Given the description of an element on the screen output the (x, y) to click on. 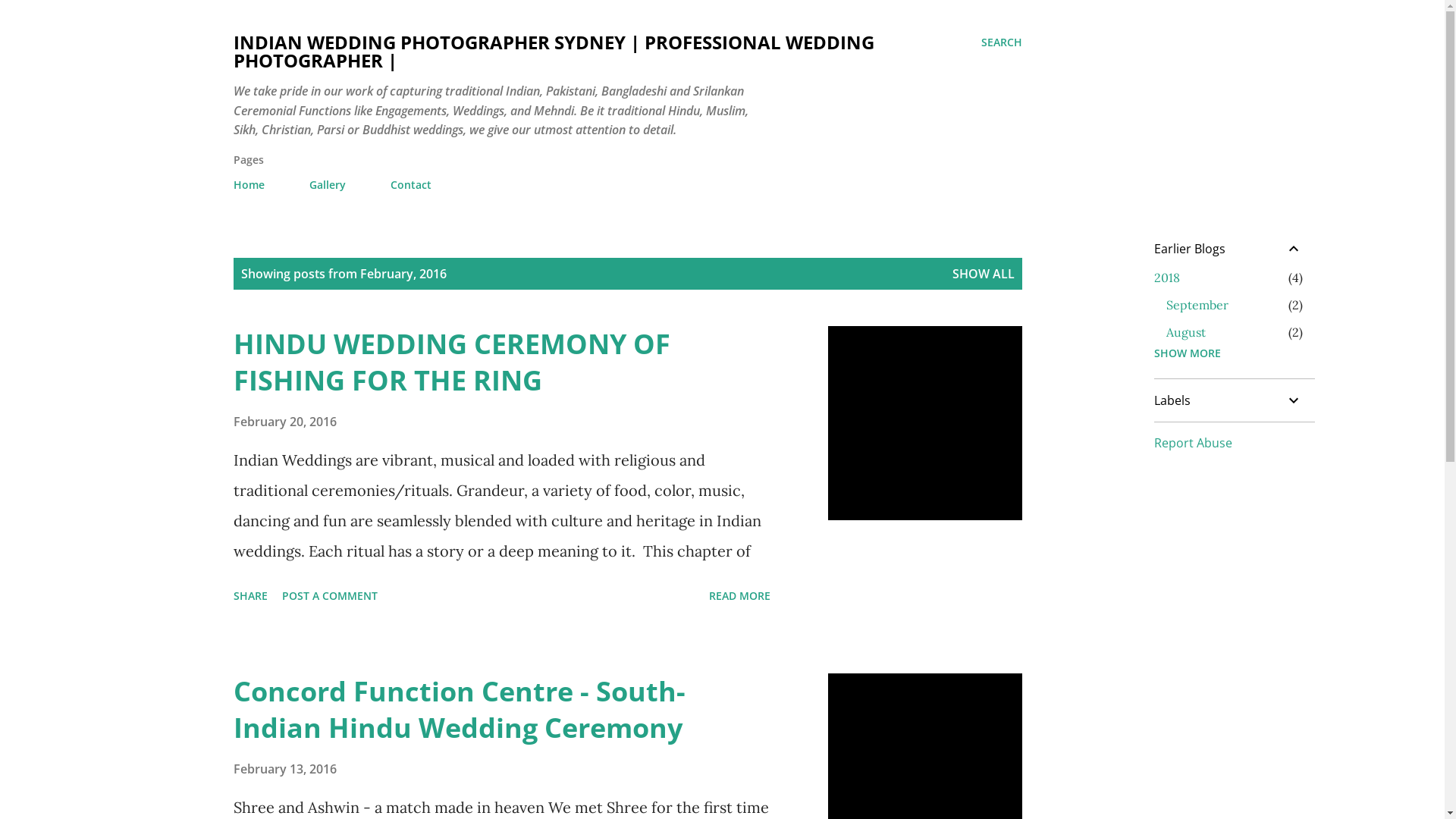
February 13, 2016 Element type: text (284, 768)
February 20, 2016 Element type: text (284, 421)
September
2 Element type: text (1197, 304)
SHARE Element type: text (250, 595)
READ MORE Element type: text (738, 595)
2018
4 Element type: text (1166, 277)
August
2 Element type: text (1185, 331)
Contact Element type: text (409, 184)
POST A COMMENT Element type: text (329, 595)
Home Element type: text (253, 184)
HINDU WEDDING CEREMONY OF FISHING FOR THE RING Element type: text (451, 361)
Report Abuse Element type: text (1193, 442)
SHOW ALL Element type: text (983, 273)
SEARCH Element type: text (1001, 42)
Gallery Element type: text (327, 184)
